Given the description of an element on the screen output the (x, y) to click on. 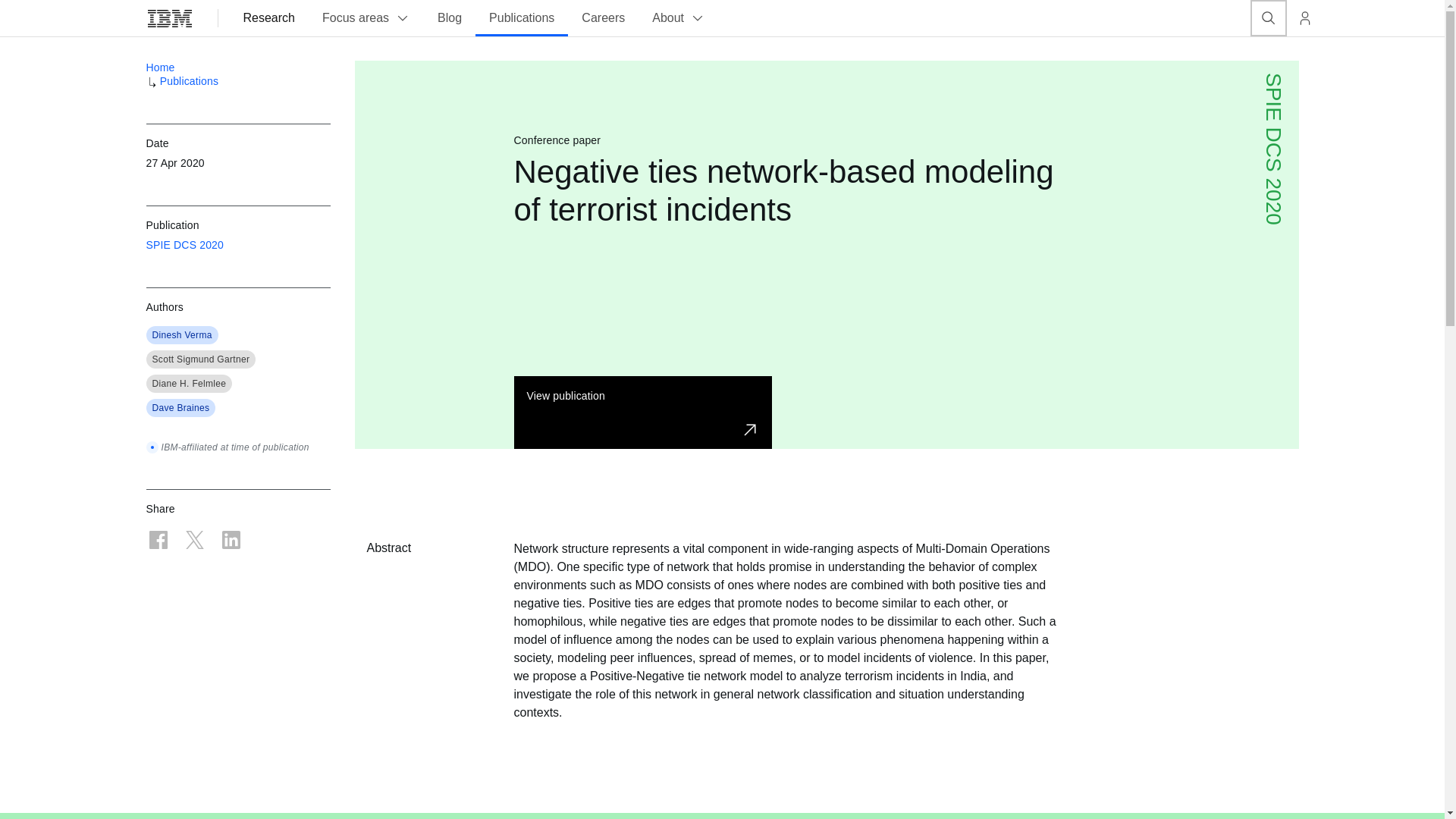
Scott Sigmund Gartner (199, 358)
Dinesh Verma (181, 335)
Diane H. Felmlee (188, 383)
Dave Braines (180, 408)
